Given the description of an element on the screen output the (x, y) to click on. 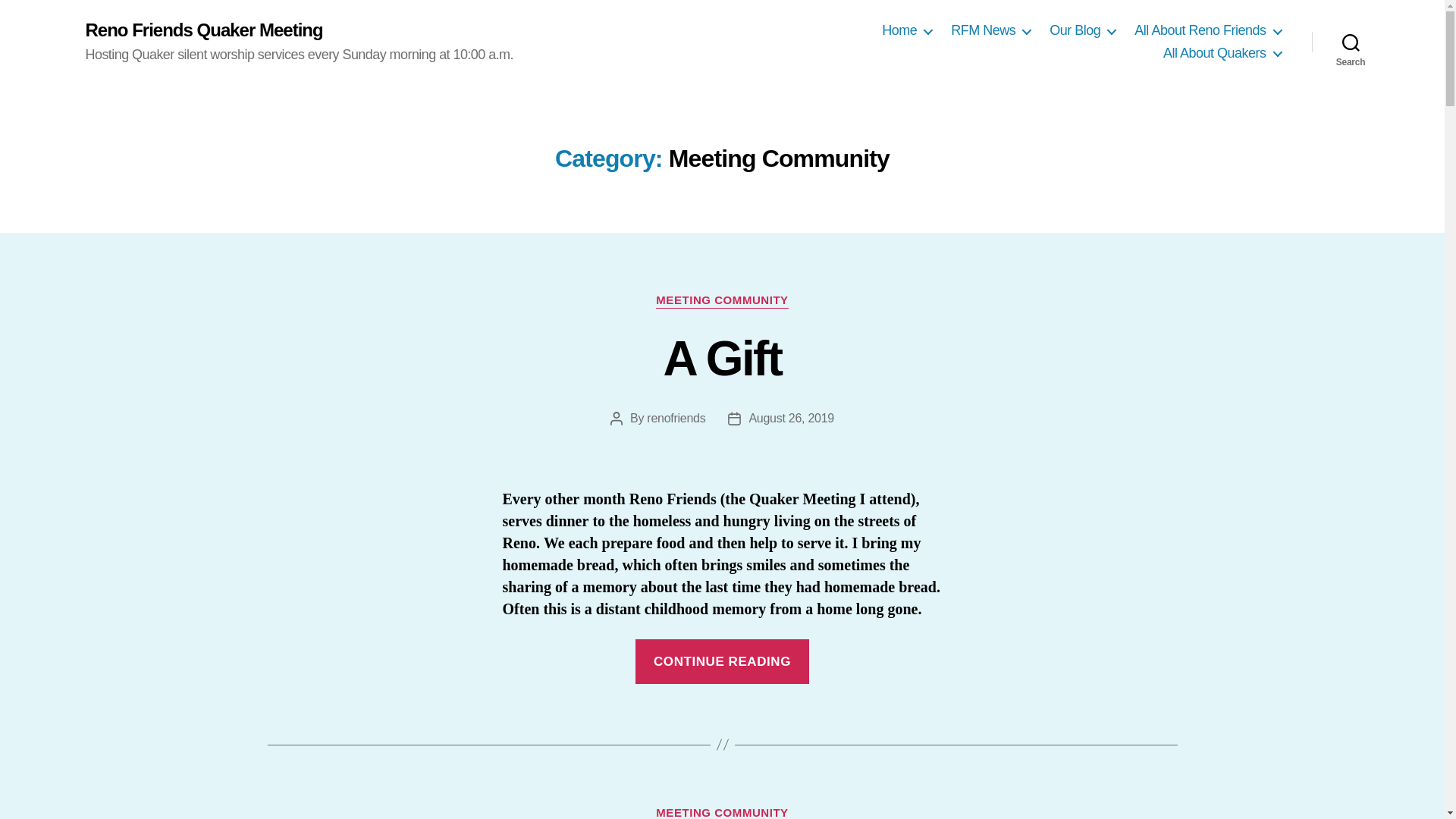
All About Reno Friends (1207, 30)
Reno Friends Quaker Meeting (202, 30)
Home (906, 30)
All About Quakers (1222, 53)
RFM News (990, 30)
Our Blog (1082, 30)
